Given the description of an element on the screen output the (x, y) to click on. 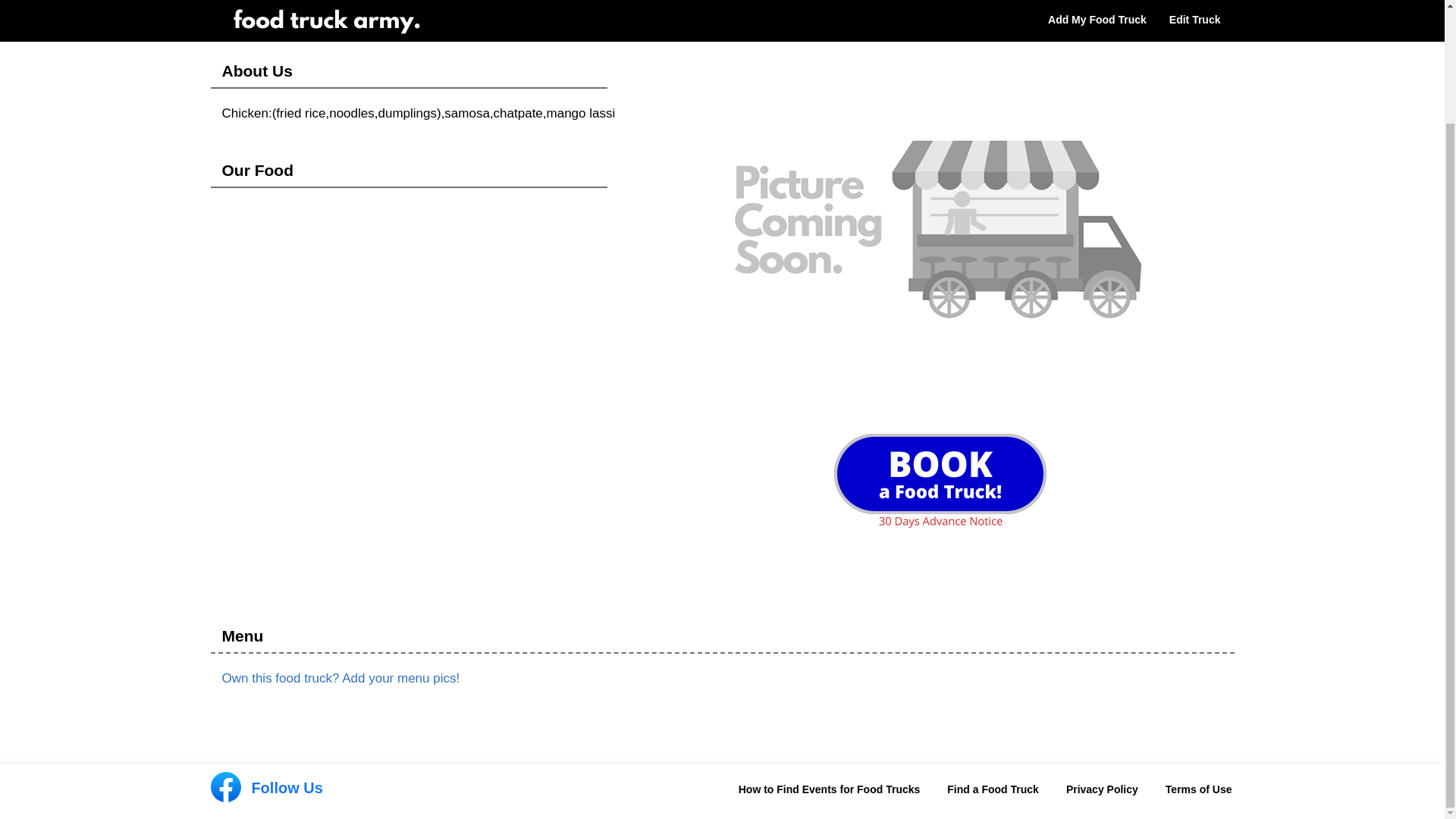
Own this food truck? Add your menu pics! (340, 677)
Terms of Use (1198, 789)
Follow Us (267, 788)
Privacy Policy (1101, 789)
Find a Food Truck (992, 789)
How to Find Events for Food Trucks (829, 789)
